Given the description of an element on the screen output the (x, y) to click on. 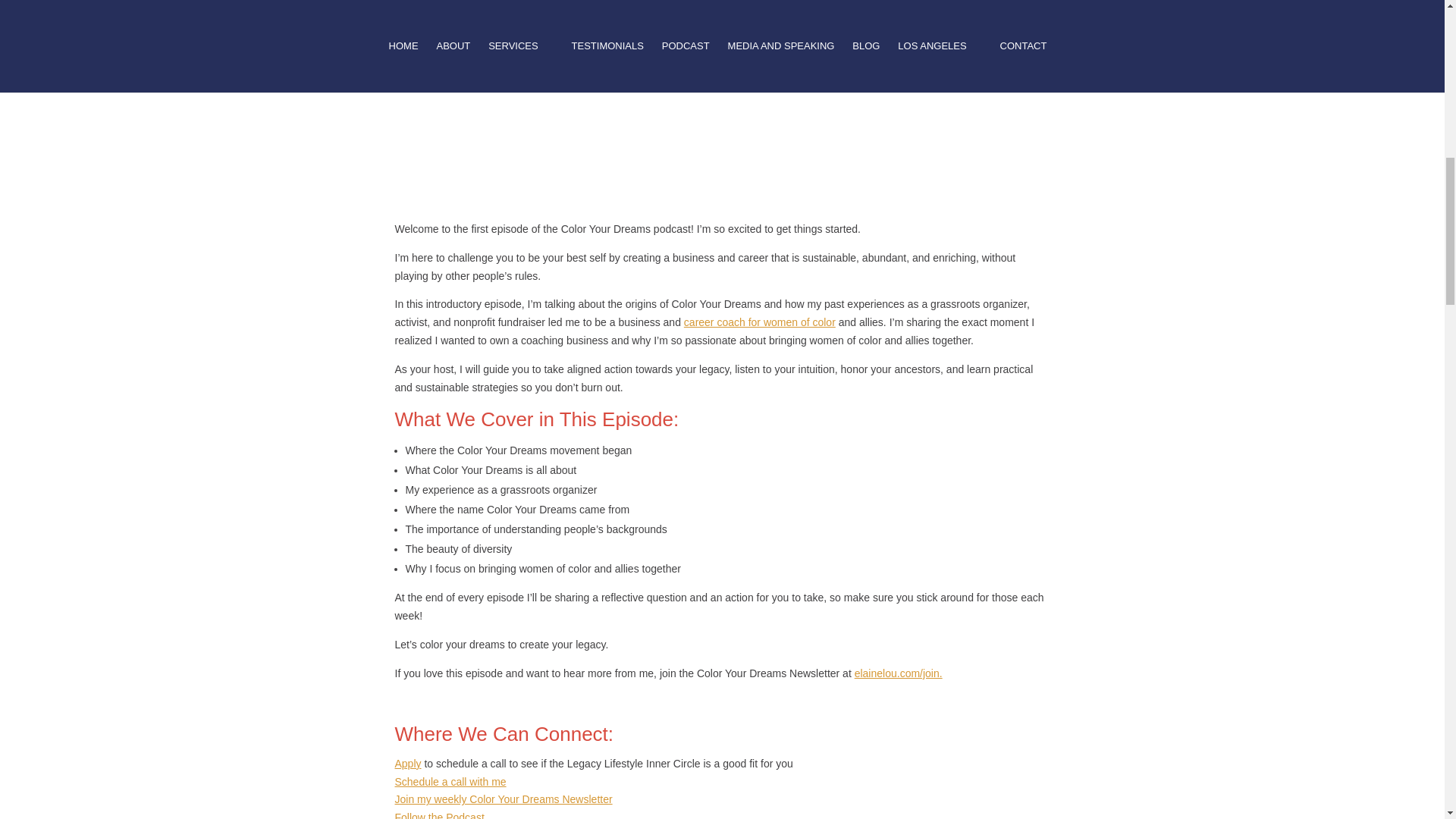
Schedule a call with me (449, 781)
Apply (407, 763)
Join my weekly Color Your Dreams Newsletter (502, 799)
Featured Image (721, 91)
career coach for women of color (759, 322)
Follow the Podcast (438, 815)
